Given the description of an element on the screen output the (x, y) to click on. 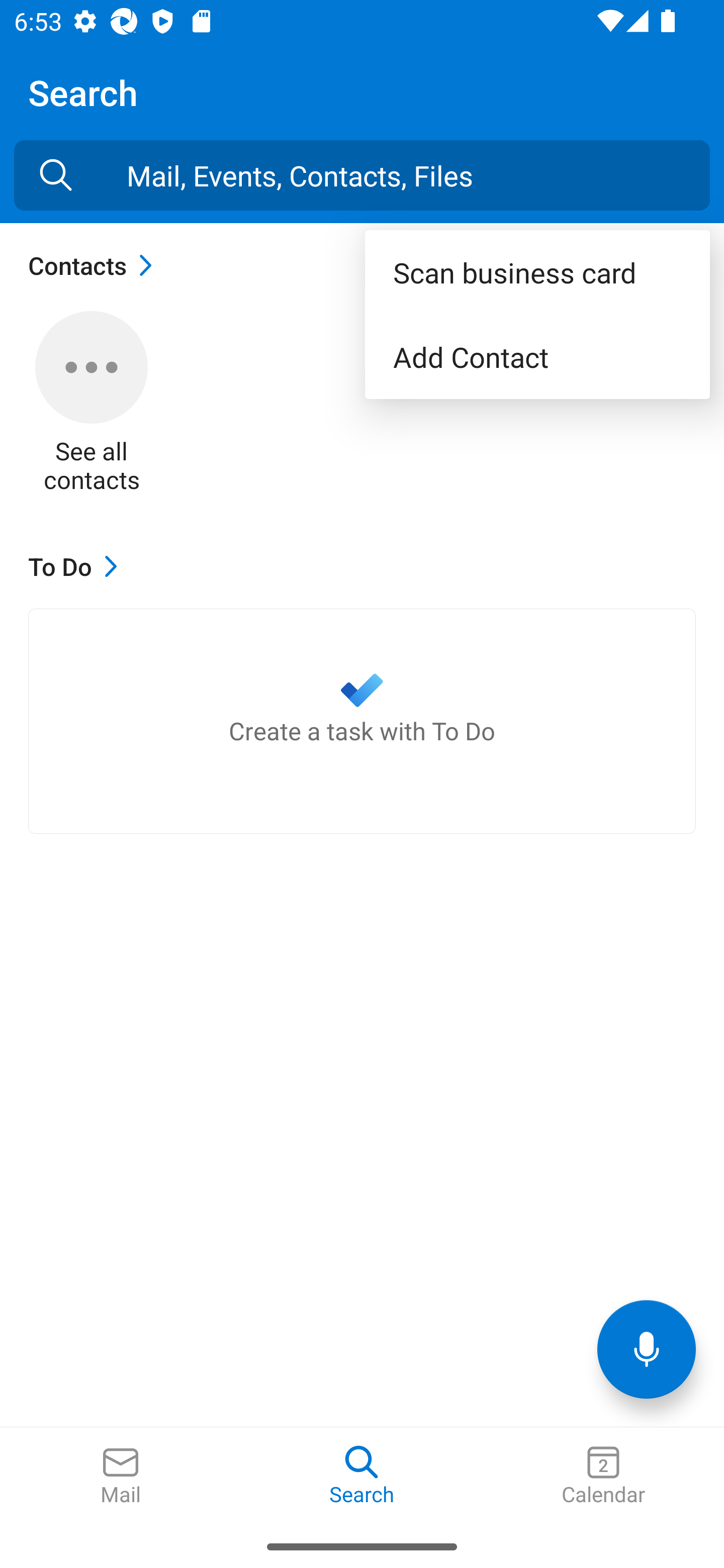
Scan business card (537, 272)
Add Contact (537, 356)
